Given the description of an element on the screen output the (x, y) to click on. 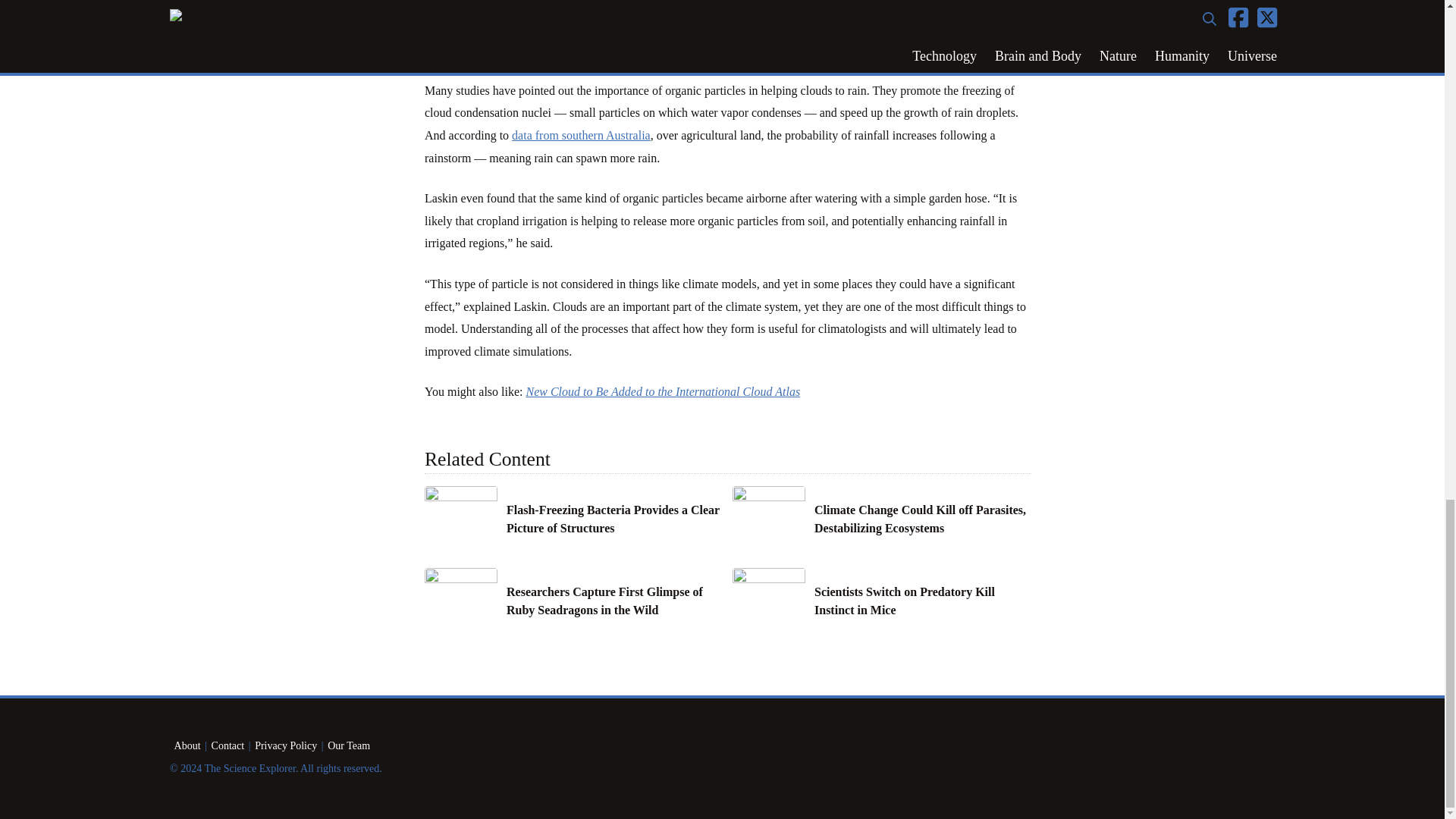
data from southern Australia (581, 134)
New Cloud to Be Added to the International Cloud Atlas (662, 391)
New Cloud to Be Added to the International Cloud Atlas (662, 391)
